Given the description of an element on the screen output the (x, y) to click on. 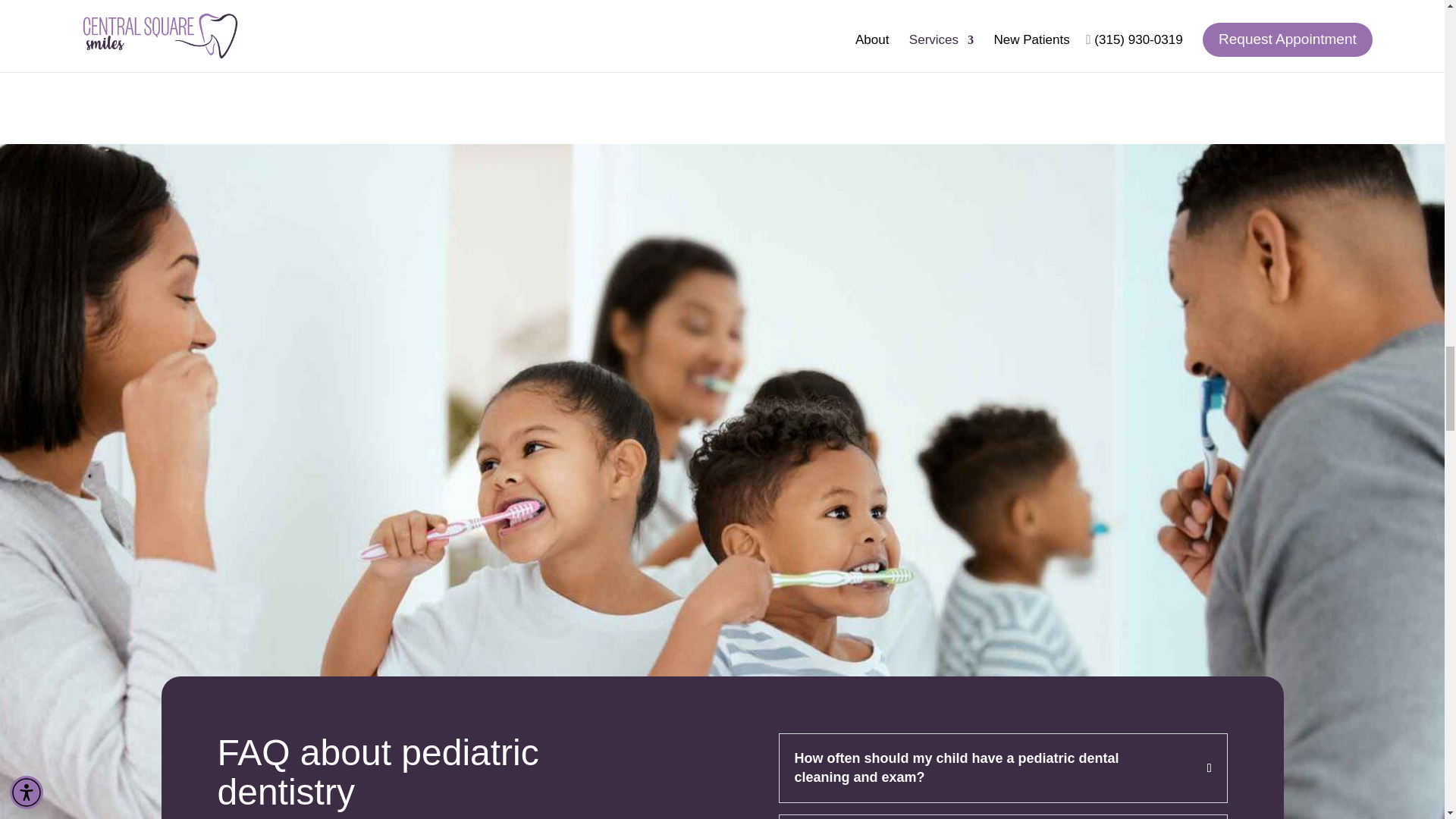
Request Appointment (843, 41)
